Given the description of an element on the screen output the (x, y) to click on. 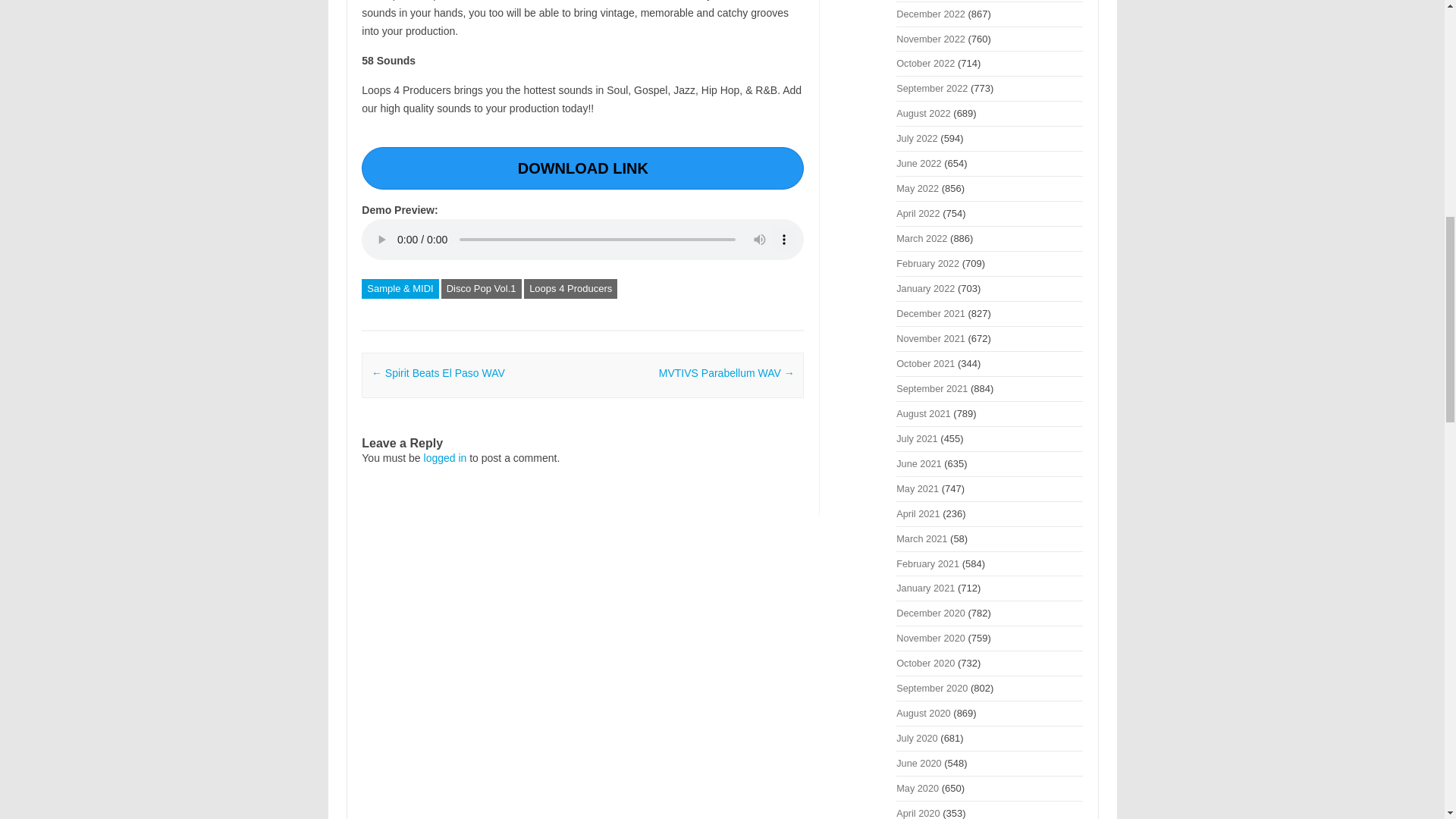
logged in (445, 458)
Disco Pop Vol.1 (481, 288)
Loops 4 Producers (570, 288)
